Given the description of an element on the screen output the (x, y) to click on. 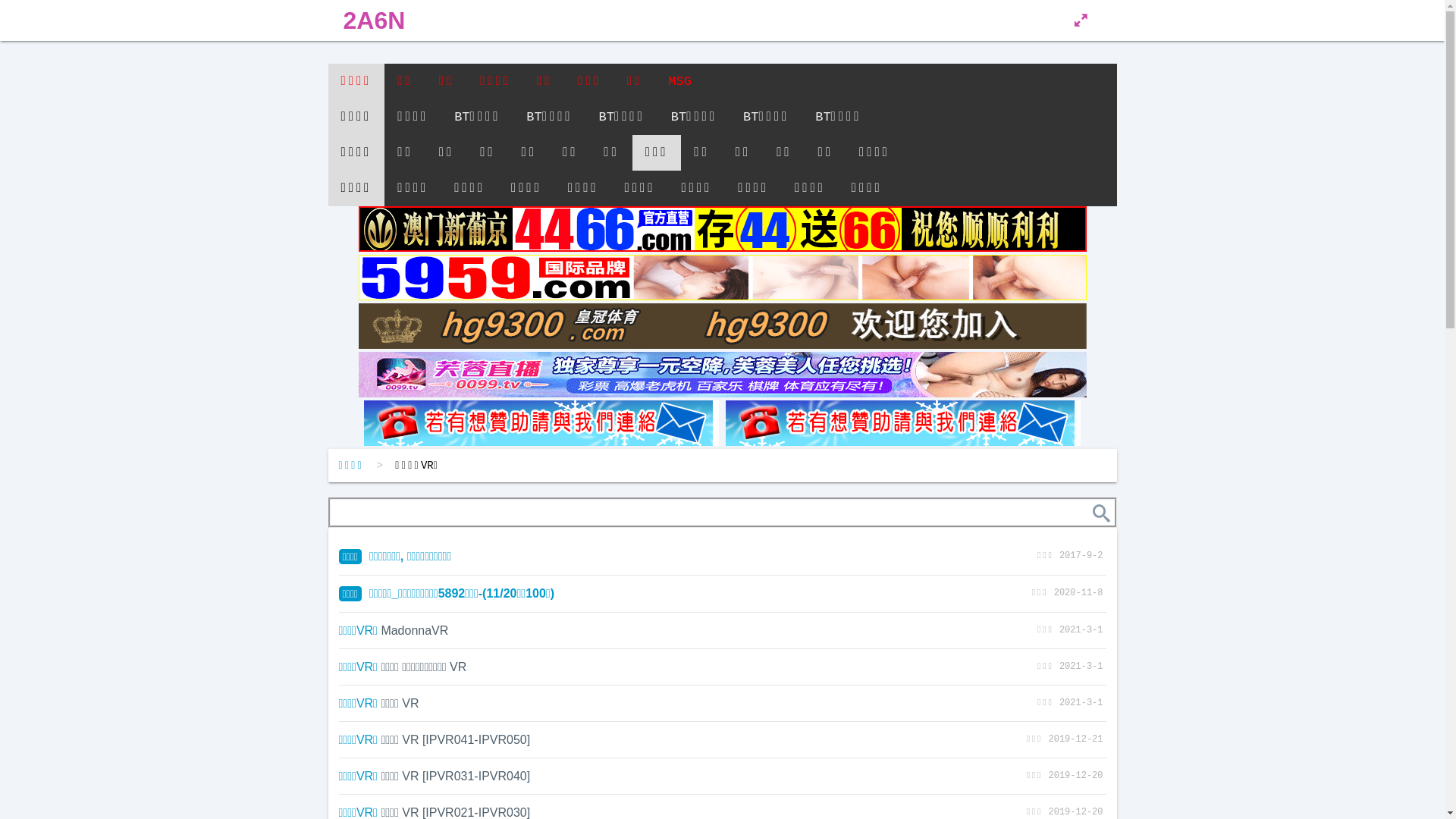
MadonnaVR Element type: text (414, 630)
MSG Element type: text (679, 81)
2A6N Element type: text (373, 20)
